Given the description of an element on the screen output the (x, y) to click on. 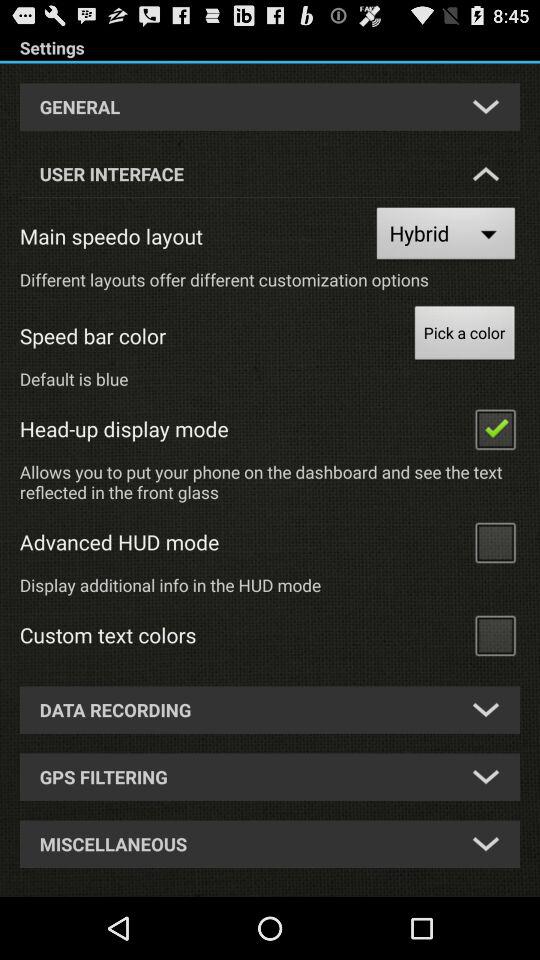
turn on advanced hud mode (495, 541)
